Given the description of an element on the screen output the (x, y) to click on. 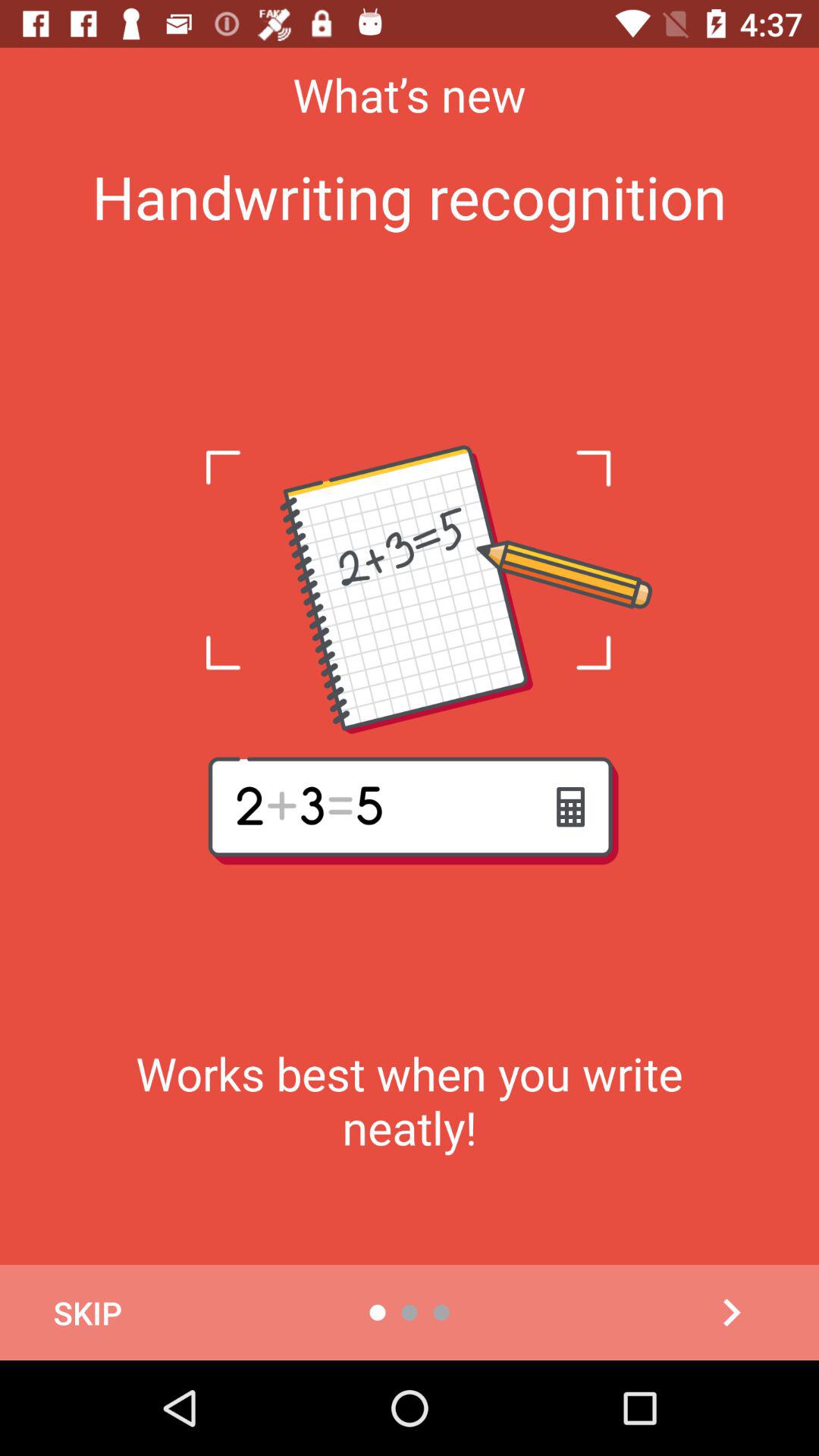
go to next page (731, 1312)
